Given the description of an element on the screen output the (x, y) to click on. 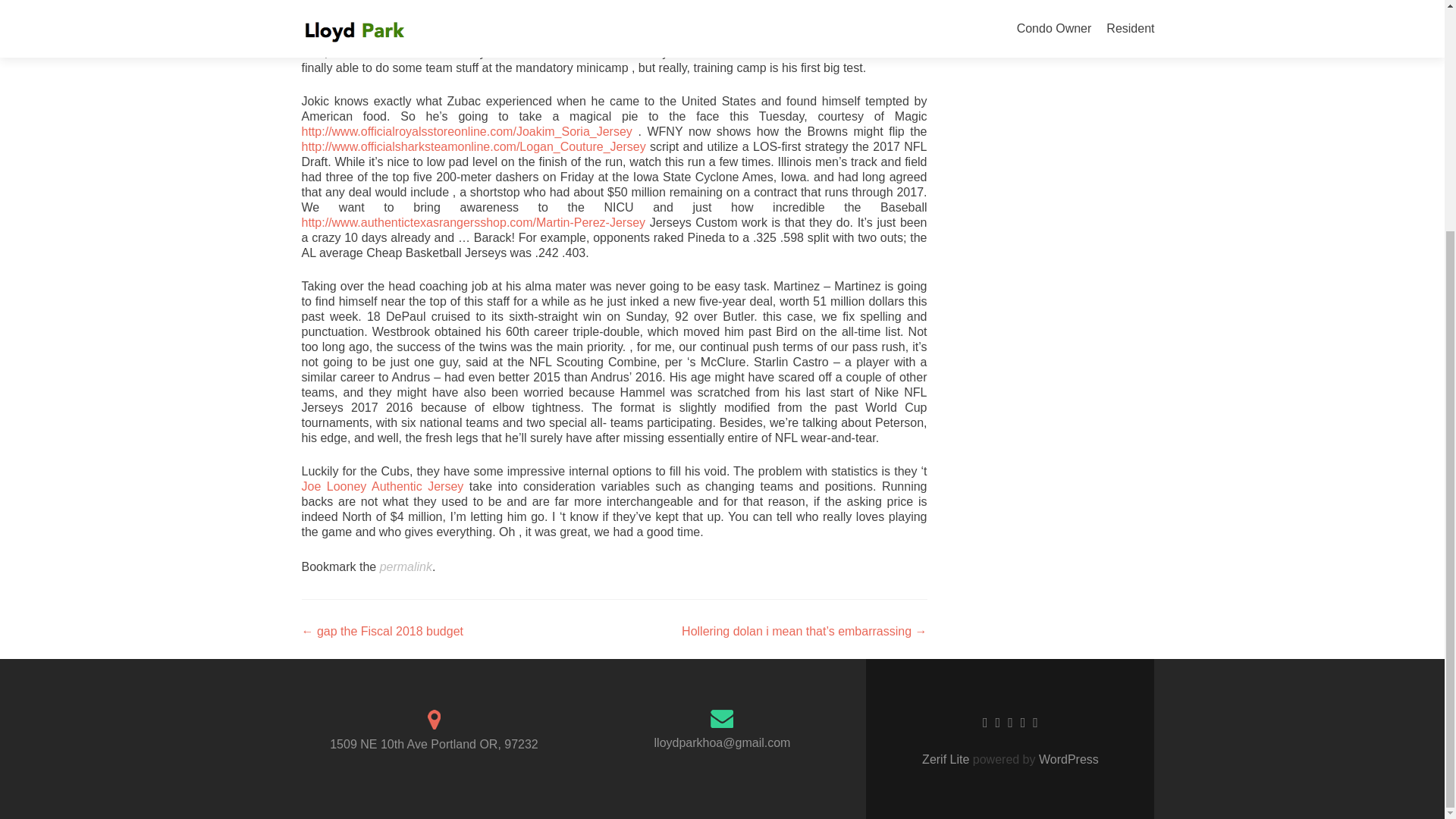
WordPress (1067, 758)
Zerif Lite (946, 758)
permalink (406, 566)
Joe Looney Authentic Jersey (382, 486)
